Given the description of an element on the screen output the (x, y) to click on. 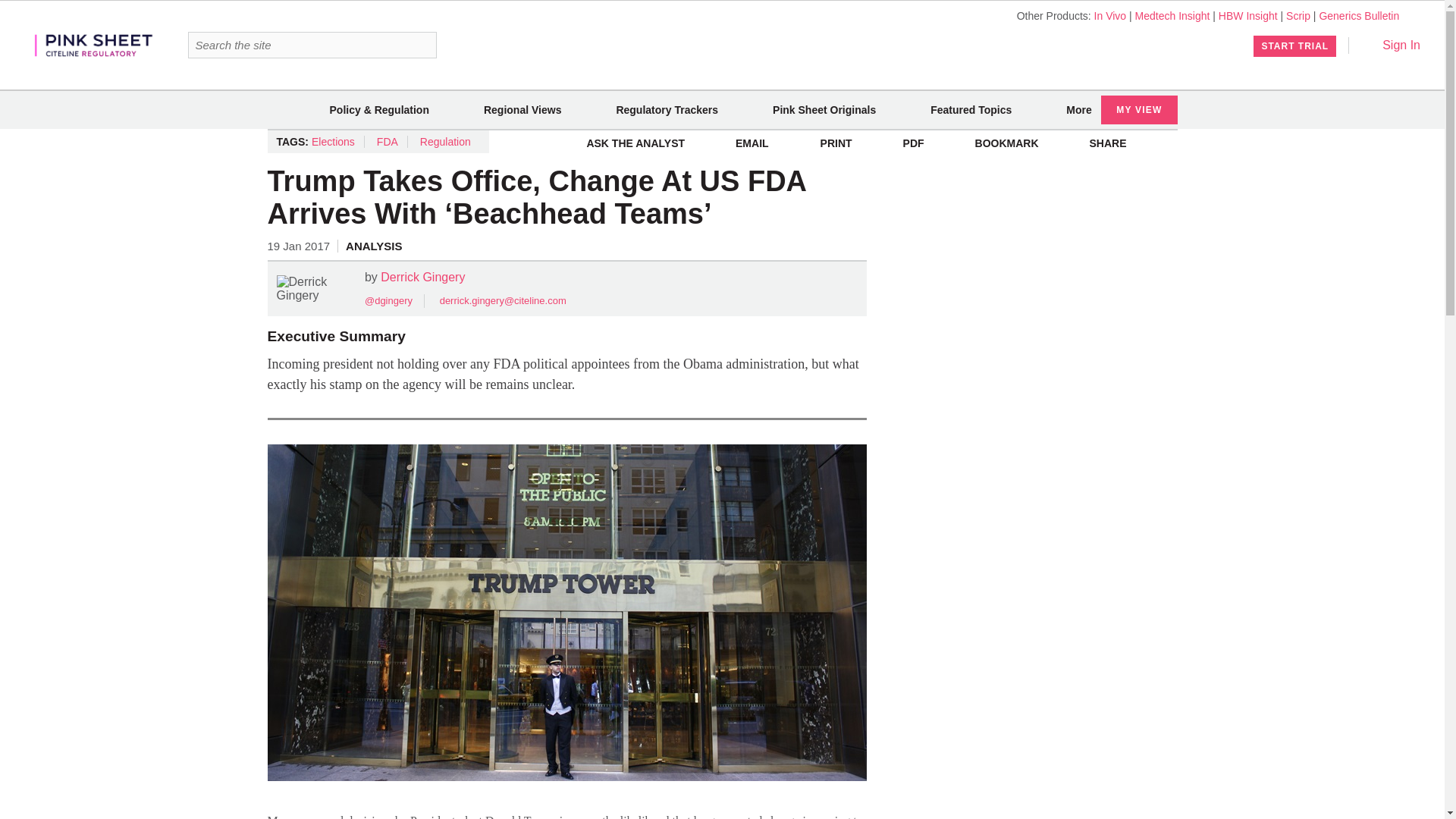
Sign In (1391, 44)
START TRIAL (1294, 46)
Generics Bulletin (1359, 15)
Scrip (1297, 15)
In Vivo (1110, 15)
Medtech Insight (1172, 15)
HBW Insight (1248, 15)
